Given the description of an element on the screen output the (x, y) to click on. 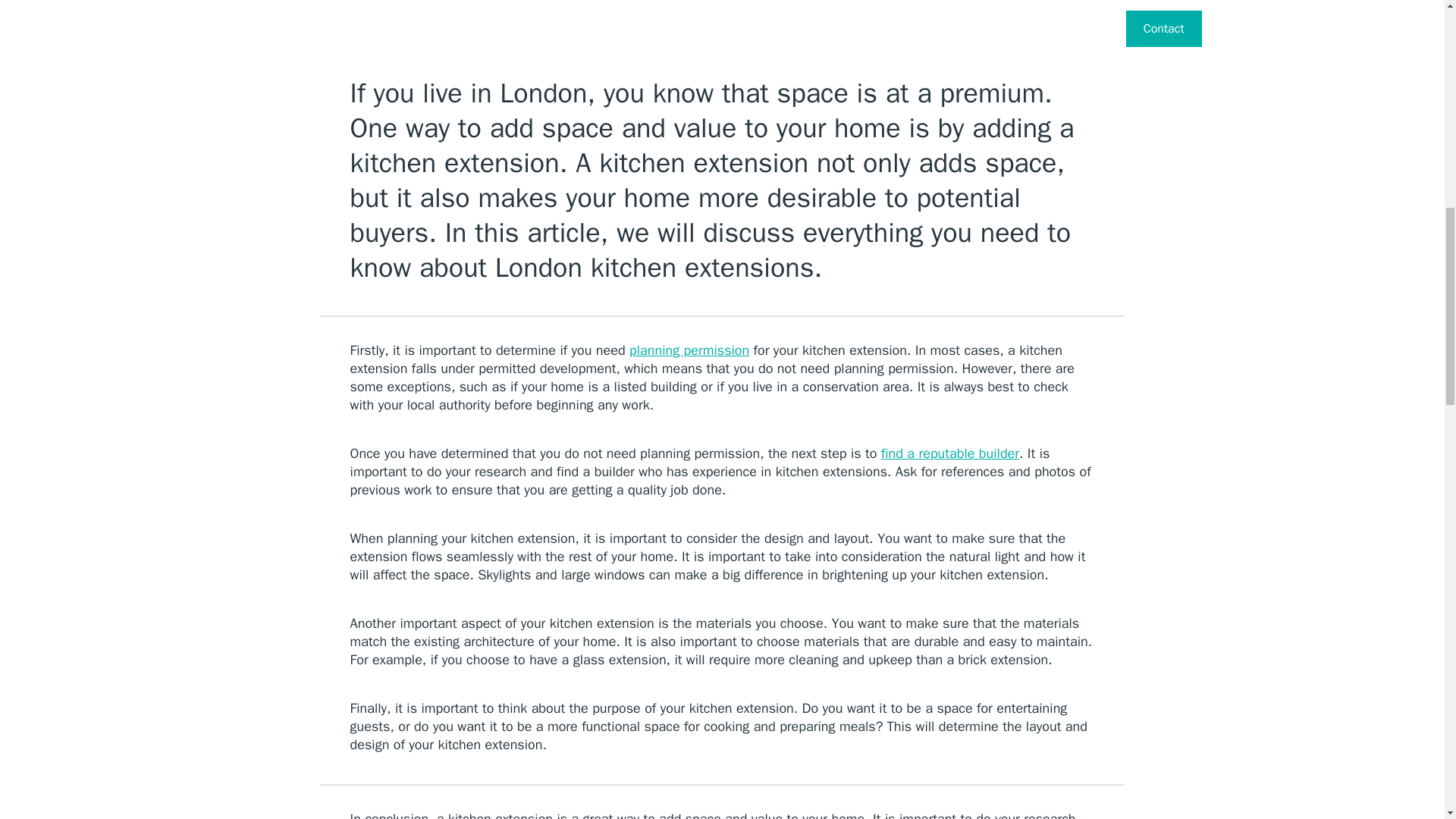
planning permission (688, 350)
find a reputable builder (949, 453)
